Given the description of an element on the screen output the (x, y) to click on. 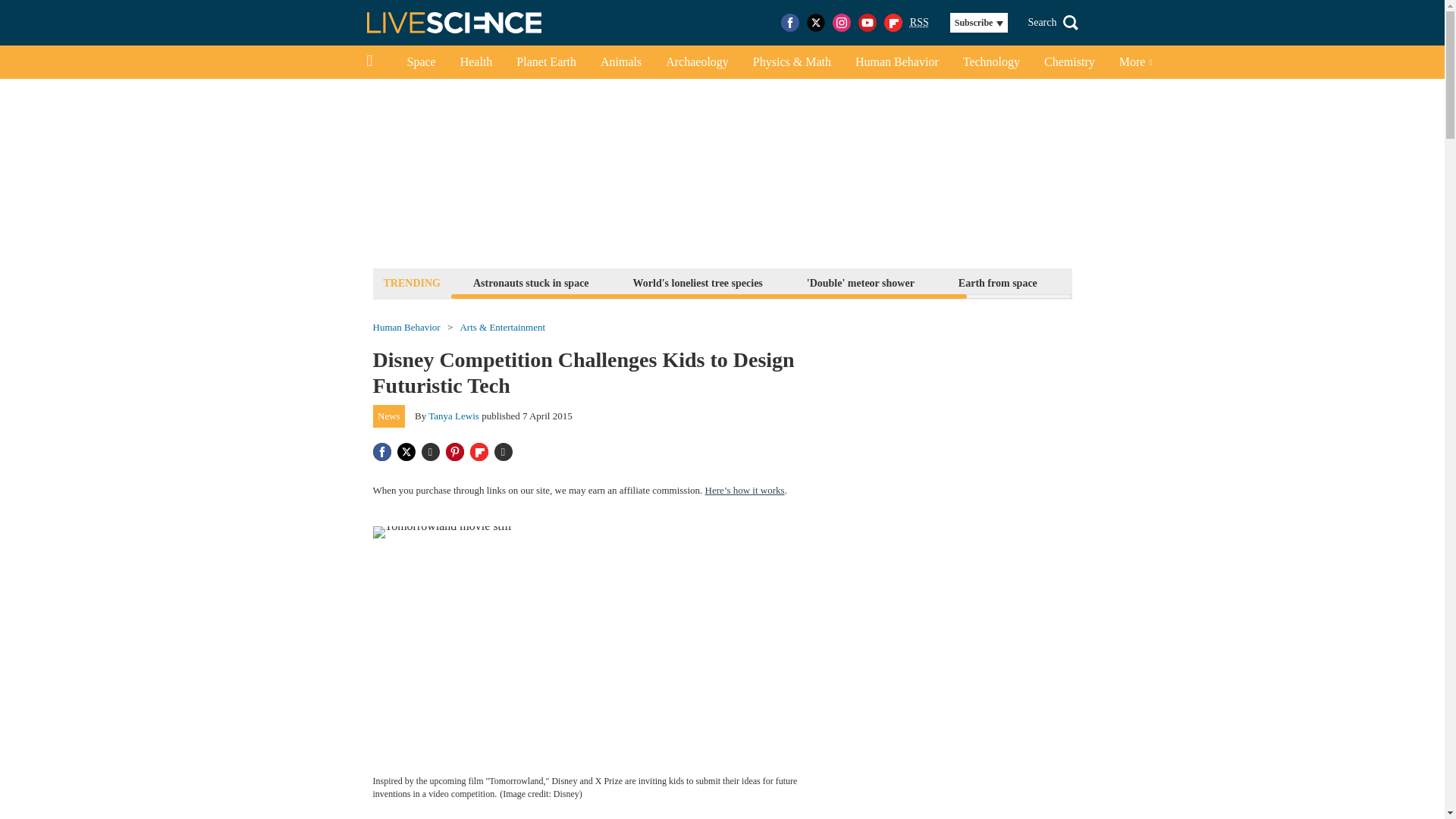
News (389, 415)
RSS (919, 22)
Human Behavior (406, 327)
Animals (620, 61)
Really Simple Syndication (919, 21)
Earth from space (997, 282)
Health (476, 61)
Delta Aquariids 2024 (1128, 282)
Tanya Lewis (453, 415)
Chemistry (1069, 61)
Planet Earth (545, 61)
'Double' meteor shower (861, 282)
Archaeology (697, 61)
Astronauts stuck in space (530, 282)
Space (420, 61)
